Given the description of an element on the screen output the (x, y) to click on. 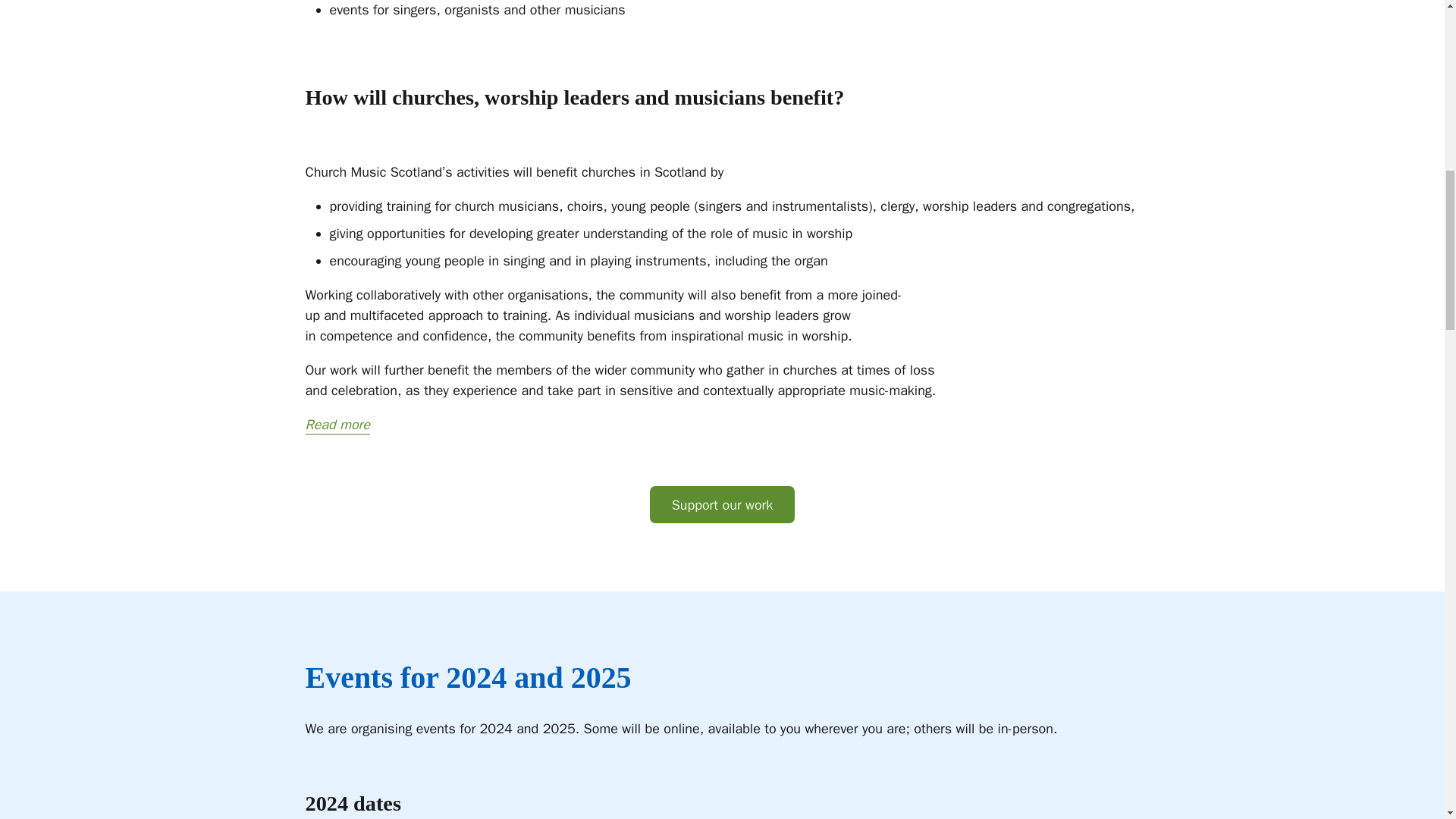
Read more (336, 424)
2025 (600, 677)
2024 (475, 677)
Support our work (721, 504)
